Given the description of an element on the screen output the (x, y) to click on. 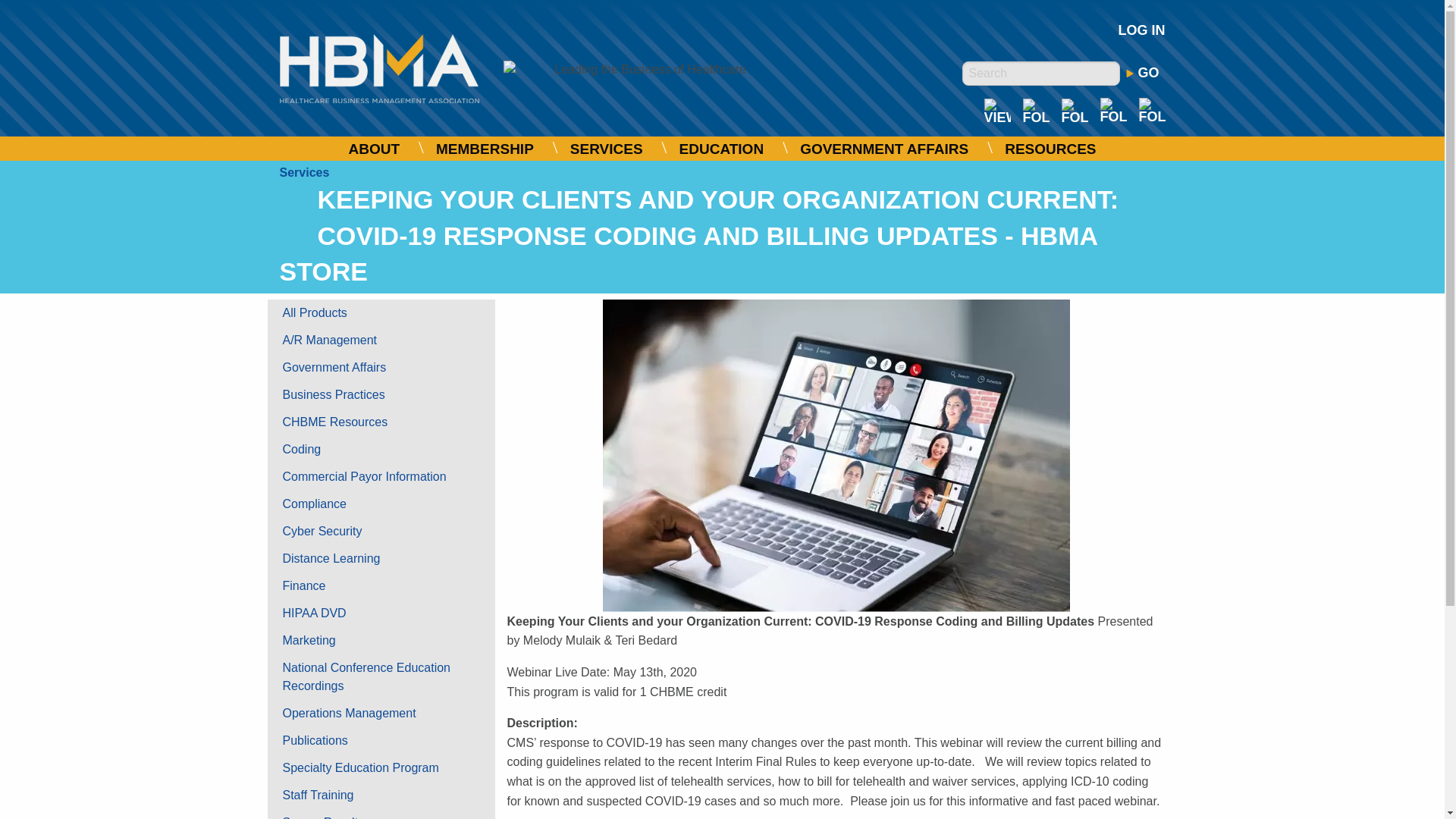
SERVICES (606, 148)
MEMBERSHIP (484, 148)
EDUCATION (721, 148)
LOG IN (1141, 29)
ABOUT (374, 148)
GO (1141, 72)
